Given the description of an element on the screen output the (x, y) to click on. 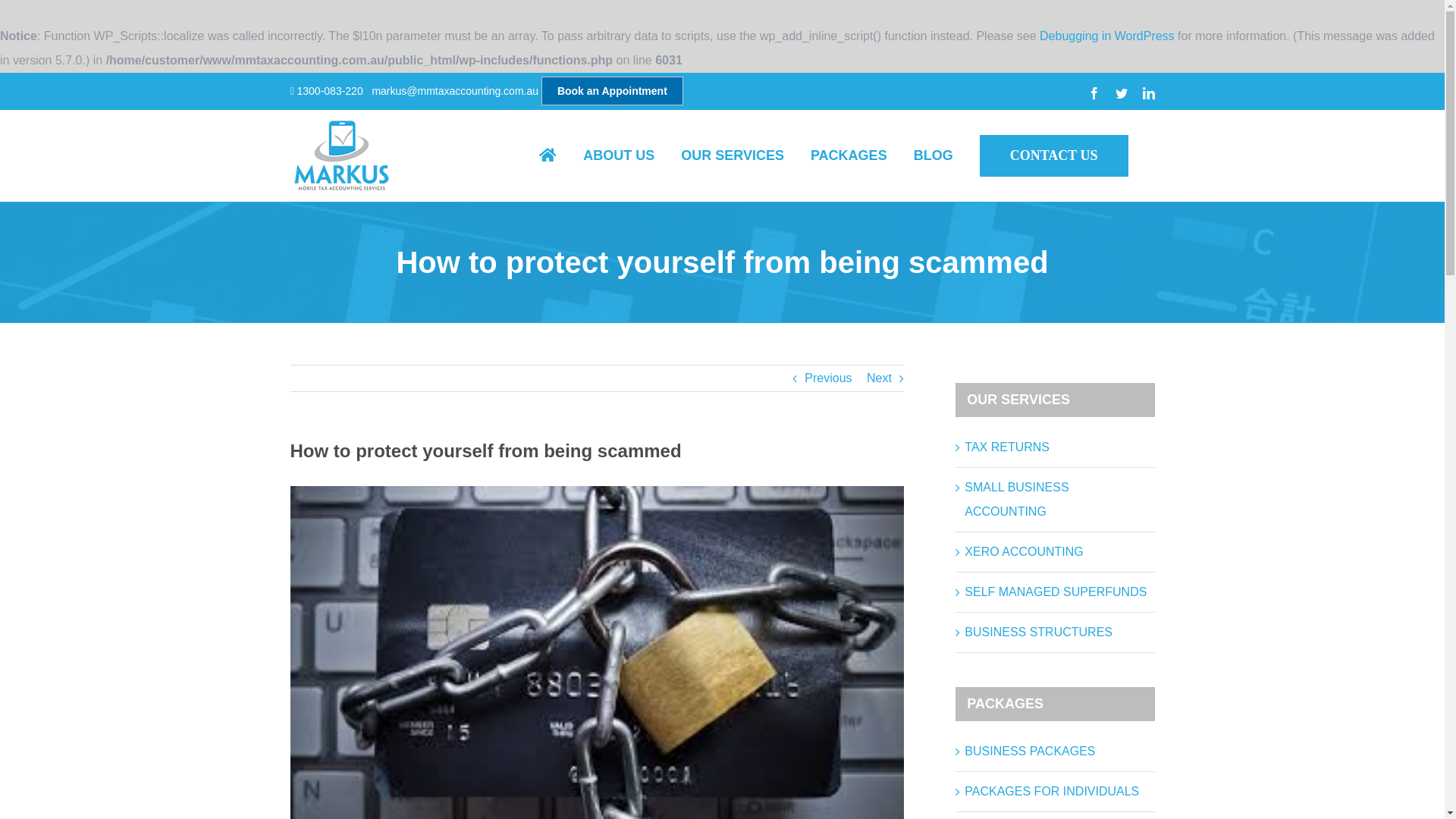
ABOUT US Element type: text (618, 154)
Next Element type: text (878, 378)
PACKAGES FOR INDIVIDUALS Element type: text (1051, 790)
TAX RETURNS Element type: text (1006, 446)
SMALL BUSINESS ACCOUNTING Element type: text (1016, 498)
OUR SERVICES Element type: text (732, 154)
XERO ACCOUNTING Element type: text (1023, 551)
twitter Element type: text (1120, 92)
BLOG Element type: text (933, 154)
PACKAGES Element type: text (848, 154)
Previous Element type: text (827, 378)
SELF MANAGED SUPERFUNDS Element type: text (1055, 591)
BUSINESS STRUCTURES Element type: text (1038, 631)
BUSINESS PACKAGES Element type: text (1029, 750)
facebook Element type: text (1093, 92)
linkedin Element type: text (1148, 92)
Book an Appointment Element type: text (612, 90)
markus@mmtaxaccounting.com.au Element type: text (454, 90)
CONTACT US Element type: text (1053, 154)
Debugging in WordPress Element type: text (1106, 35)
